Given the description of an element on the screen output the (x, y) to click on. 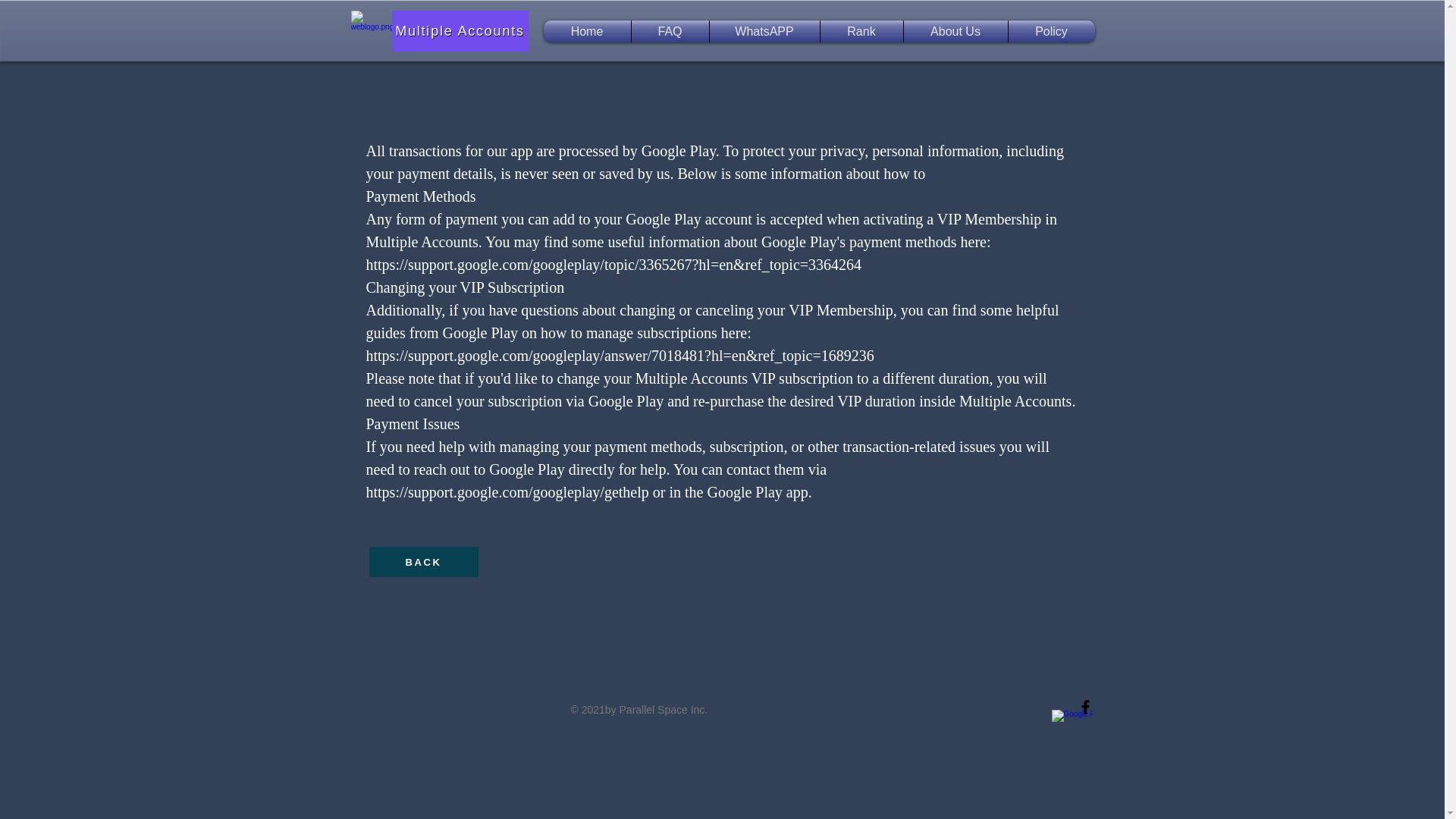
Home (586, 31)
WhatsAPP (764, 31)
About Us (955, 31)
Multiple Accounts (459, 30)
Rank (861, 31)
FAQ (668, 31)
BACK (422, 562)
